Given the description of an element on the screen output the (x, y) to click on. 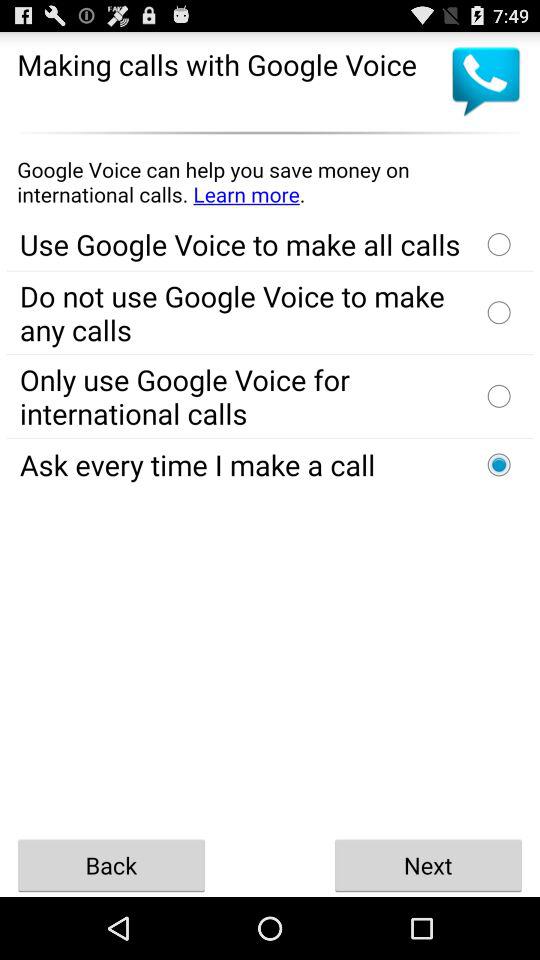
advertisement (269, 182)
